Given the description of an element on the screen output the (x, y) to click on. 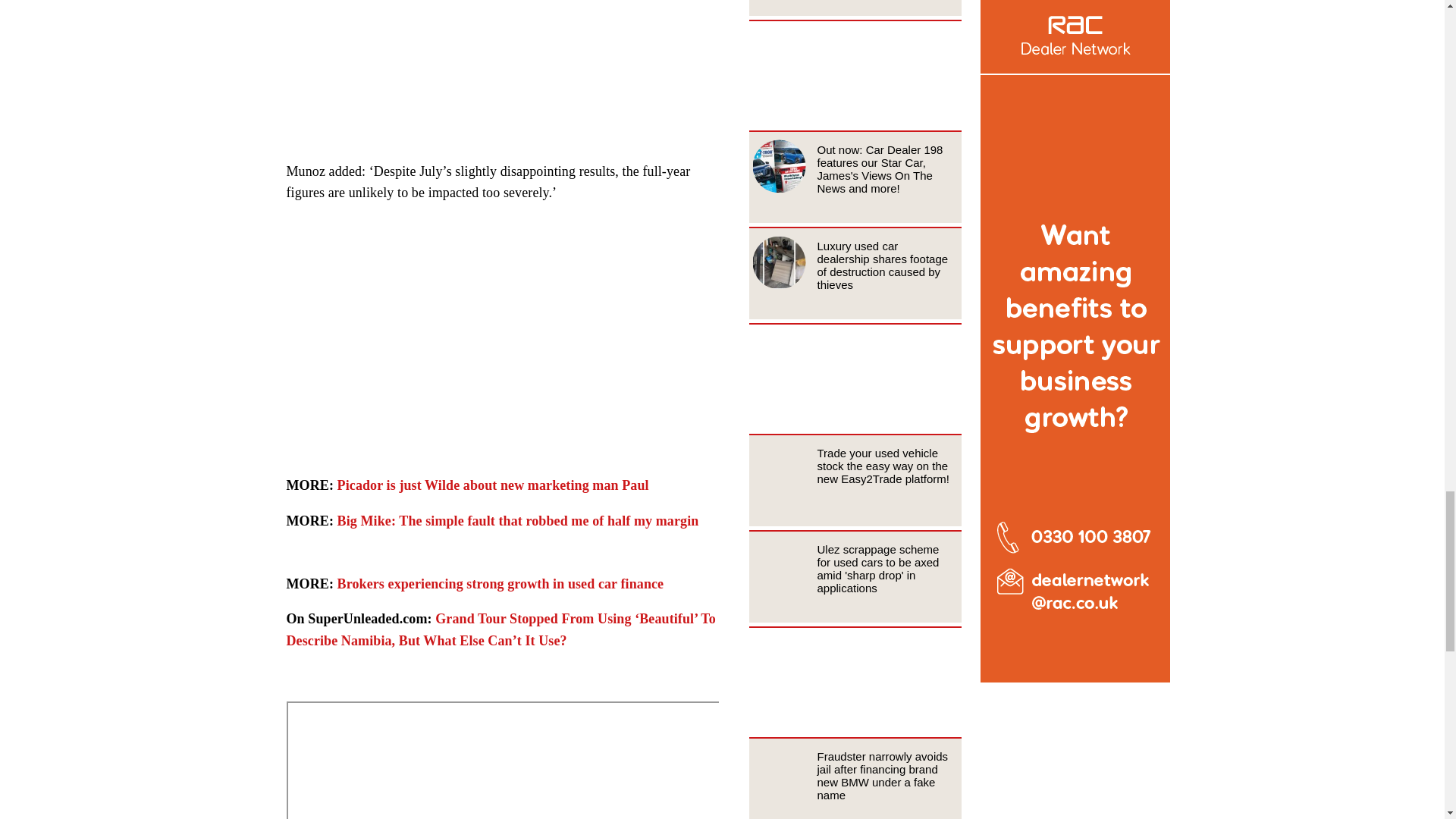
Picador is just Wilde about new marketing man Paul (493, 485)
Big Mike: The simple fault that robbed me of half my margin (517, 520)
Brokers experiencing strong growth in used car finance (500, 583)
